Given the description of an element on the screen output the (x, y) to click on. 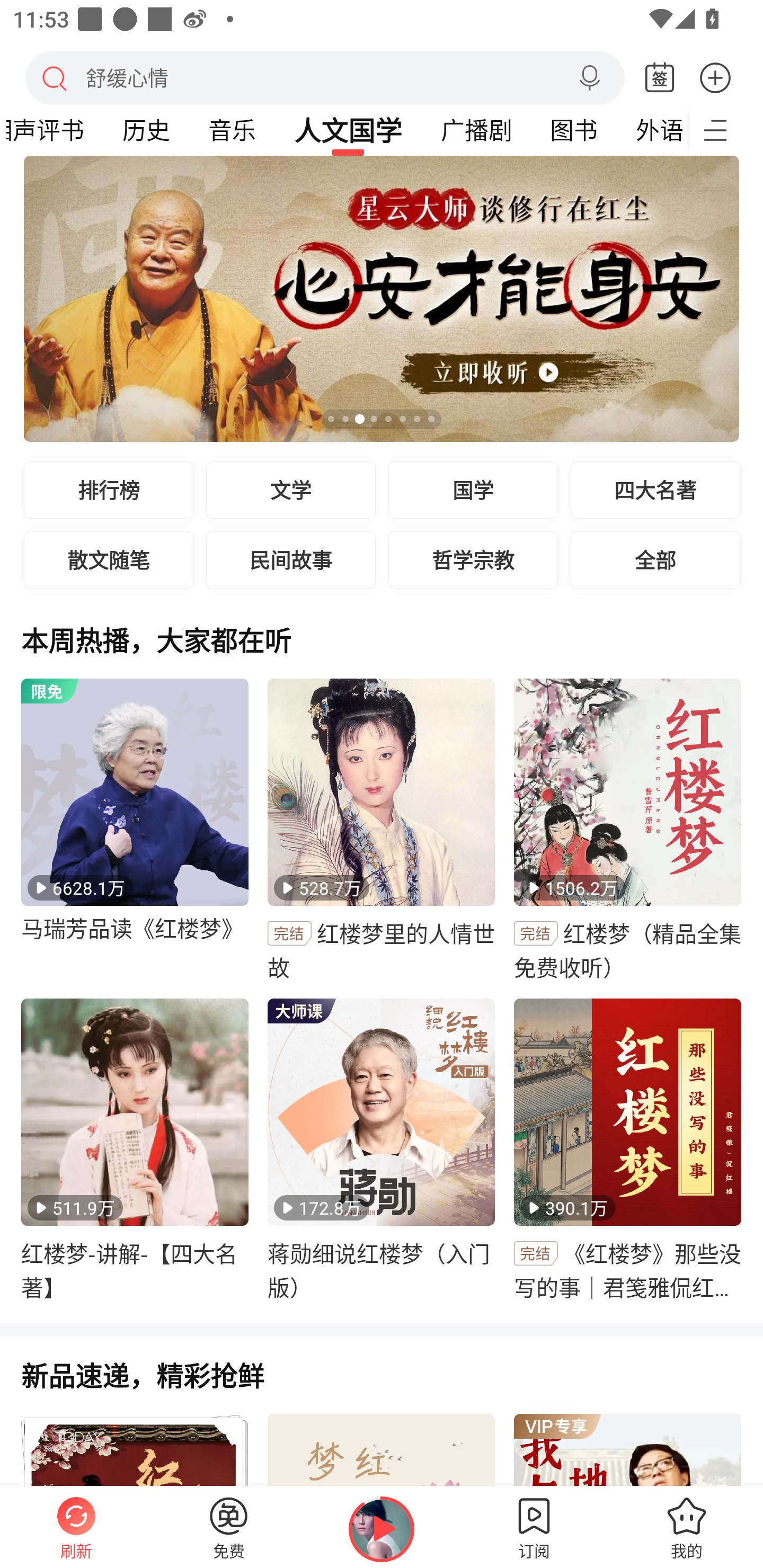
搜索 舒缓心情 语音搜索 (324, 77)
更多 (714, 77)
签到 (659, 78)
语音搜索 (589, 78)
历史 (146, 130)
音乐 (231, 130)
人文国学 (347, 130)
广播剧 (476, 130)
图书 (573, 130)
外语 (652, 130)
更多频道 (726, 130)
焦点图 (381, 298)
排行榜 (108, 489)
文学 (290, 489)
国学 (473, 489)
四大名著 (655, 489)
散文随笔 (108, 559)
民间故事 (290, 559)
哲学宗教 (473, 559)
全部 (655, 559)
本周热播，大家都在听 (381, 650)
专辑标签 6628.1万 马瑞芳品读《红楼梦》 (134, 830)
528.7万   红楼梦里的人情世故 (381, 830)
1506.2万   红楼梦（精品全集免费收听） (627, 830)
511.9万 红楼梦-讲解-【四大名著】 (134, 1150)
专辑标签 172.8万 蒋勋细说红楼梦（入门版） (381, 1150)
390.1万   《红楼梦》那些没写的事｜君笺雅侃红楼｜国学经典 (627, 1150)
新品速递，精彩抢鲜 (381, 1385)
刷新 (76, 1526)
免费 (228, 1526)
订阅 (533, 1526)
我的 (686, 1526)
继续播放Alpha-橘子海OrangeOcean (381, 1529)
